Given the description of an element on the screen output the (x, y) to click on. 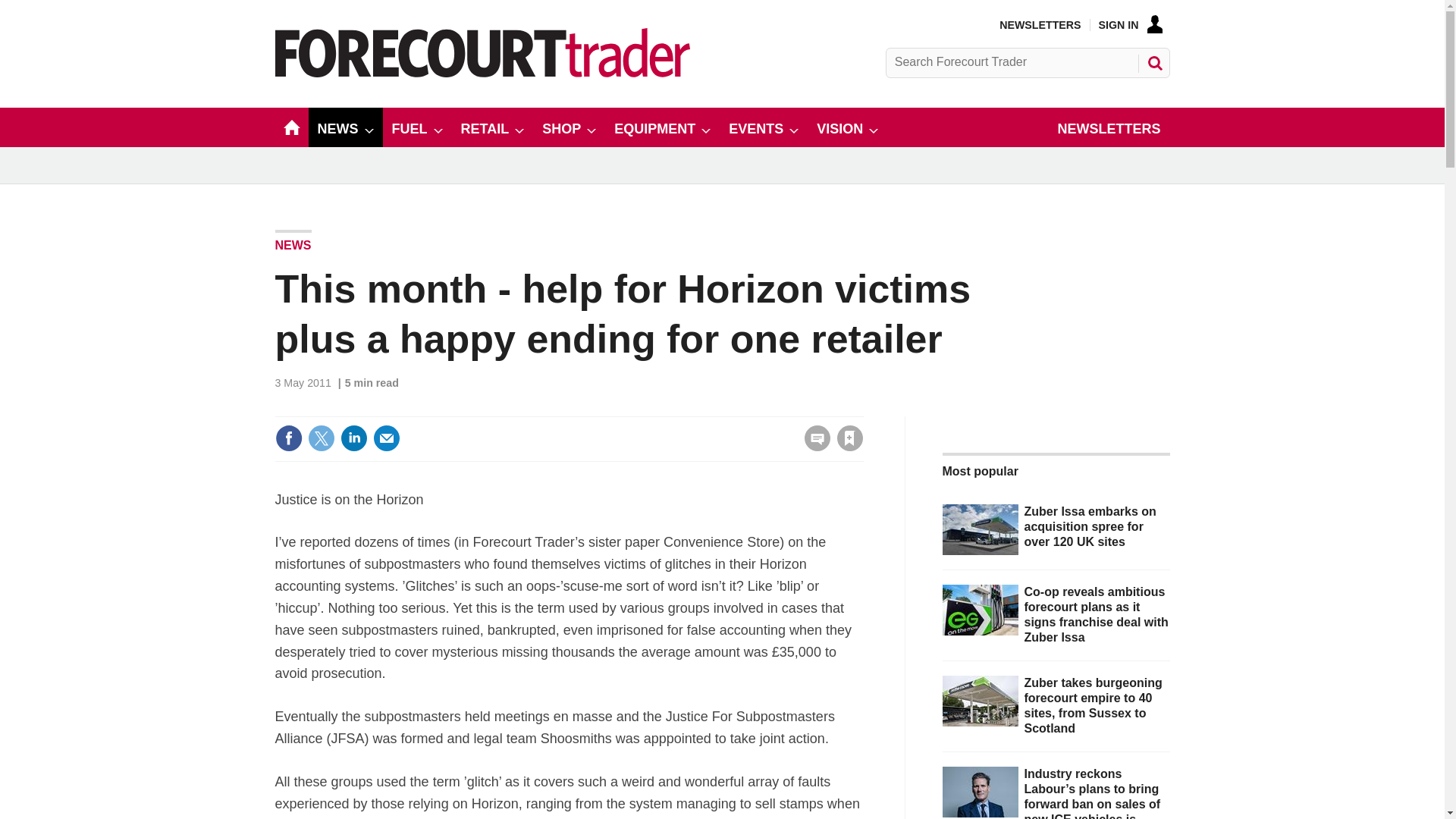
Site name (482, 72)
SEARCH (1153, 62)
SIGN IN (1130, 24)
Share this on Facebook (288, 438)
Email this article (386, 438)
NEWSLETTERS (1039, 24)
No comments (812, 447)
Share this on Twitter (320, 438)
Share this on Linked in (352, 438)
